Given the description of an element on the screen output the (x, y) to click on. 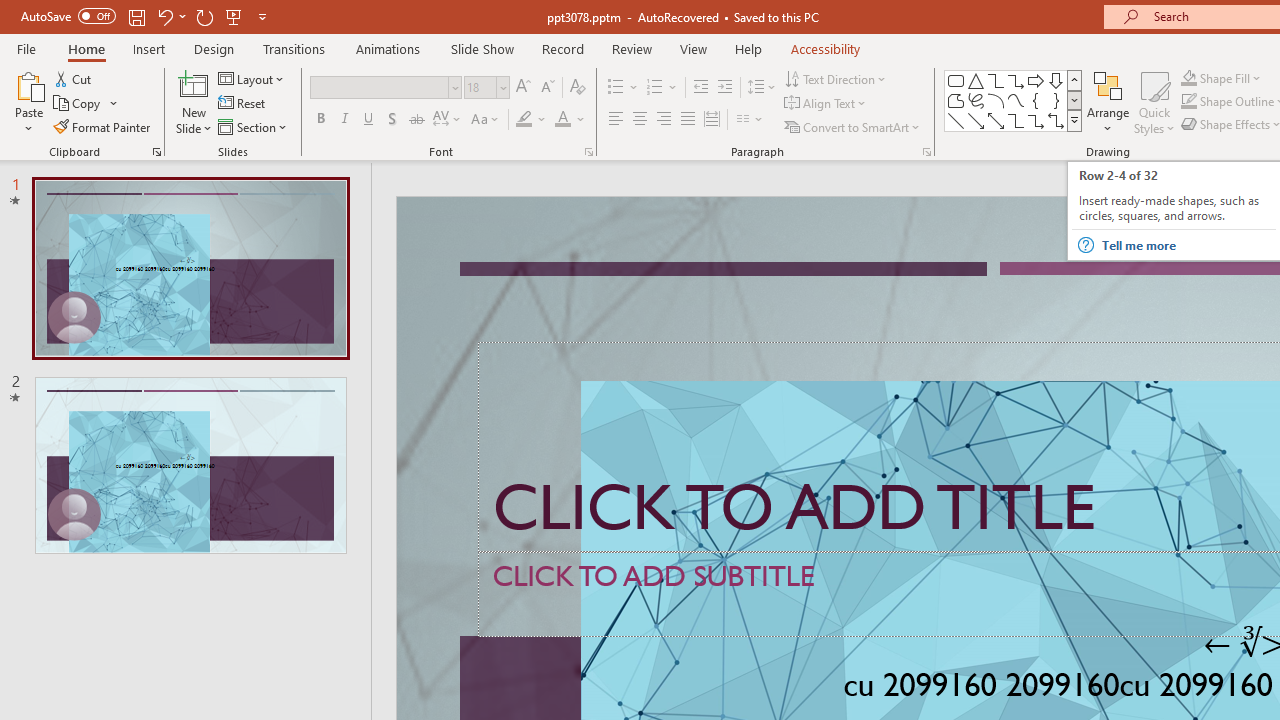
Distributed (712, 119)
Text Highlight Color Yellow (524, 119)
Reset (243, 103)
Left Brace (1035, 100)
Decrease Indent (700, 87)
Connector: Elbow Arrow (1035, 120)
Curve (1016, 100)
Format Painter (103, 126)
Isosceles Triangle (975, 80)
Align Text (826, 103)
Align Right (663, 119)
Cut (73, 78)
